Given the description of an element on the screen output the (x, y) to click on. 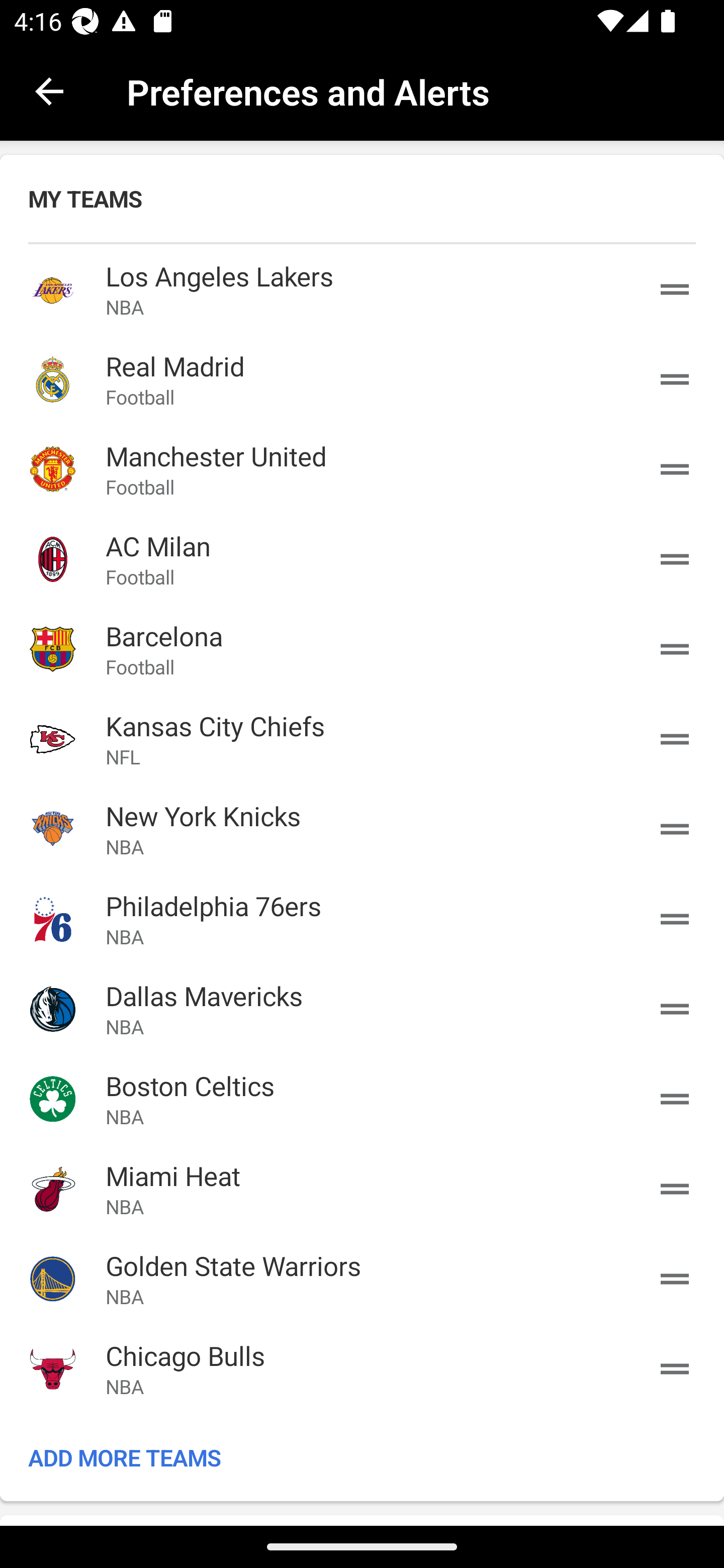
back.button (49, 90)
AC Milan AC Milan AC Milan Football Football (362, 558)
Barcelona Barcelona Barcelona Football Football (362, 648)
Miami Heat Miami Heat Miami Heat NBA NBA (362, 1188)
Chicago Bulls Chicago Bulls Chicago Bulls NBA NBA (362, 1368)
ADD MORE TEAMS (362, 1457)
